Given the description of an element on the screen output the (x, y) to click on. 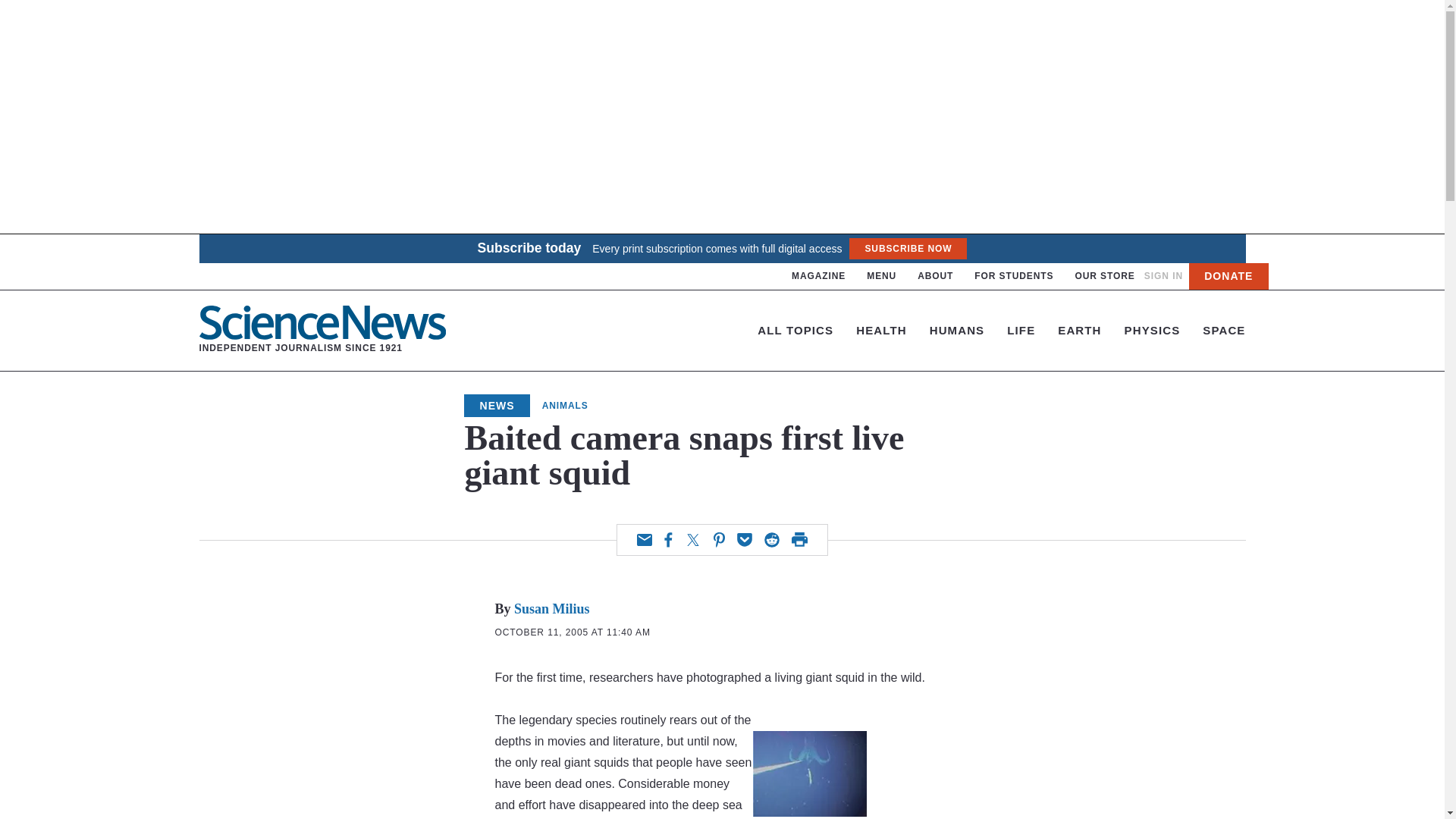
MENU (881, 275)
FOR STUDENTS (1013, 275)
MAGAZINE (818, 275)
ABOUT (321, 330)
SIGN IN (935, 275)
DONATE (1163, 275)
ALL TOPICS (1228, 275)
OUR STORE (794, 329)
SUBSCRIBE NOW (1104, 275)
Share via email (907, 248)
